Given the description of an element on the screen output the (x, y) to click on. 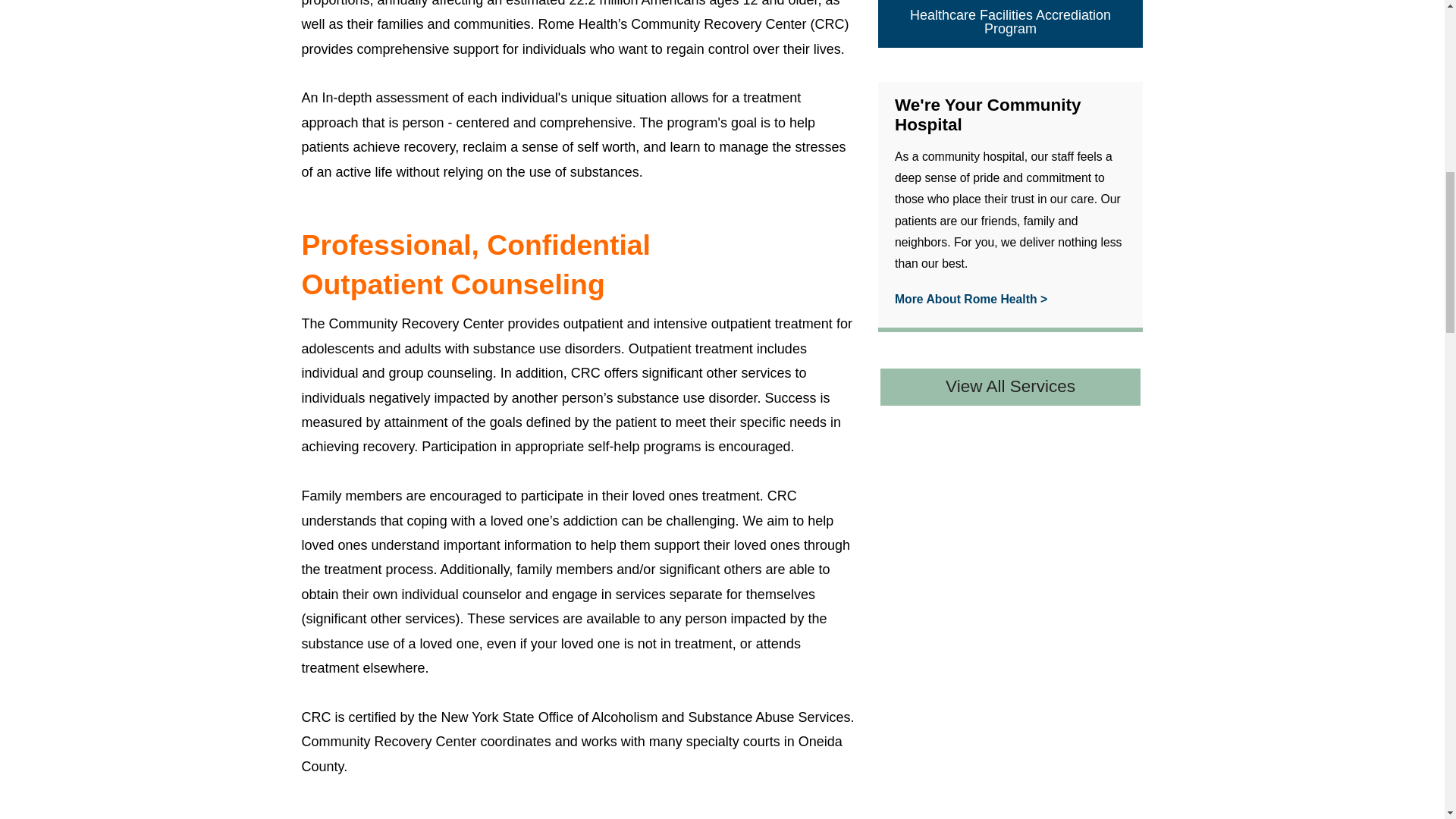
Services (1009, 387)
Seals of Excellence (1009, 23)
About Us (970, 298)
